Given the description of an element on the screen output the (x, y) to click on. 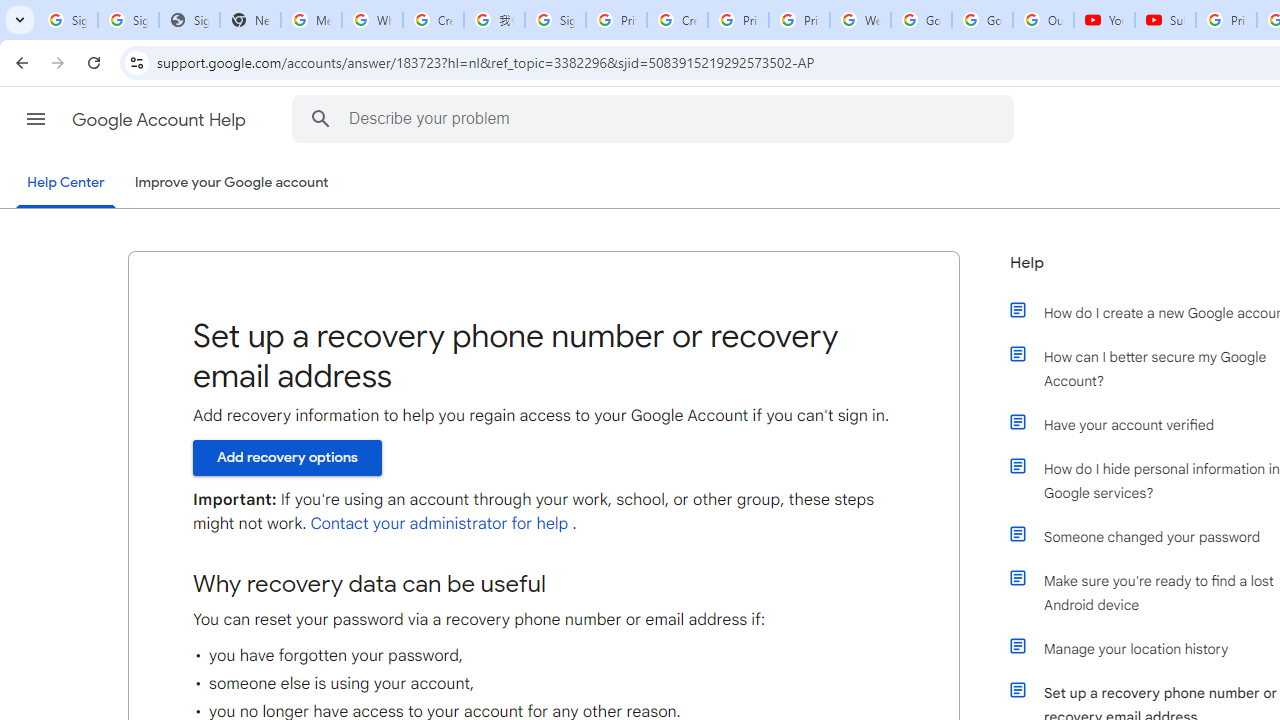
Who is my administrator? - Google Account Help (372, 20)
Help Center (65, 183)
Improve your Google account (231, 183)
Sign In - USA TODAY (189, 20)
New Tab (250, 20)
Subscriptions - YouTube (1165, 20)
